Given the description of an element on the screen output the (x, y) to click on. 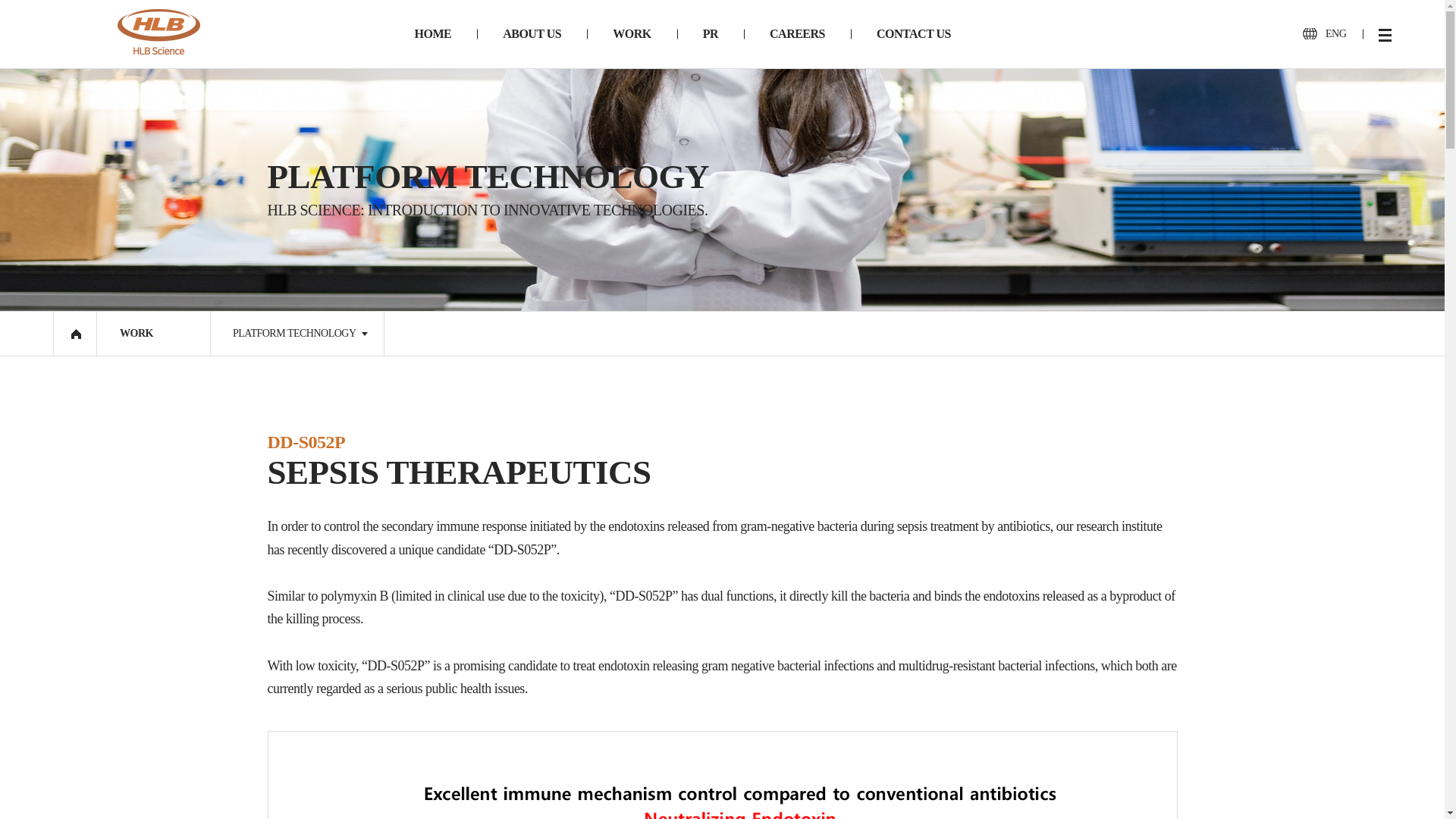
HOME (432, 33)
DanDi Bioscience (159, 31)
ENG (1324, 33)
